Given the description of an element on the screen output the (x, y) to click on. 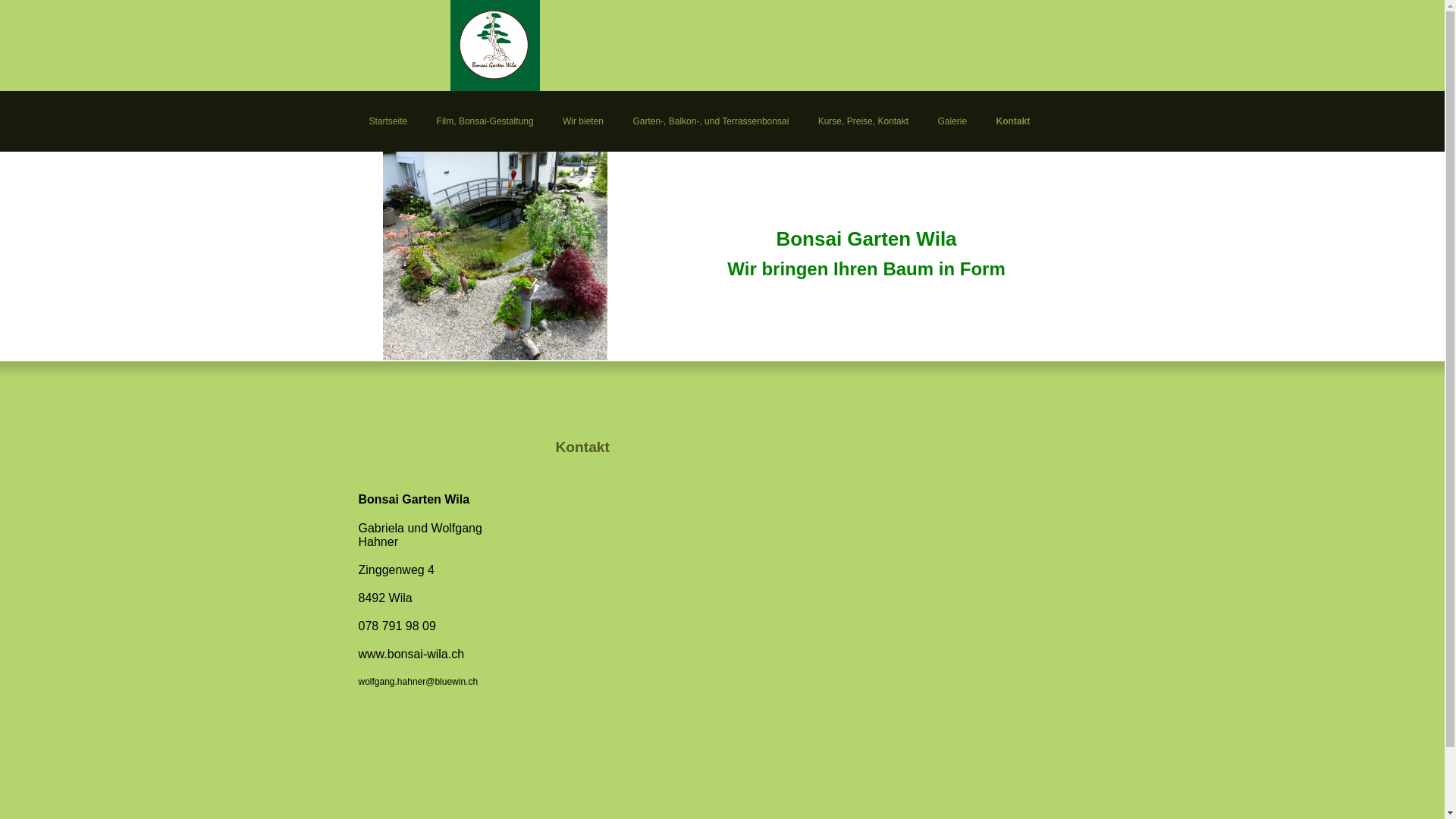
Kurse, Preise, Kontakt Element type: text (862, 121)
Wir bieten Element type: text (583, 121)
Impressum Element type: text (390, 189)
Galerie Element type: text (951, 121)
Film, Bonsai-Gestaltung Element type: text (484, 121)
Kontakt Element type: text (1012, 121)
Garten-, Balkon-, und Terrassenbonsai Element type: text (710, 121)
Startseite Element type: text (387, 121)
